Given the description of an element on the screen output the (x, y) to click on. 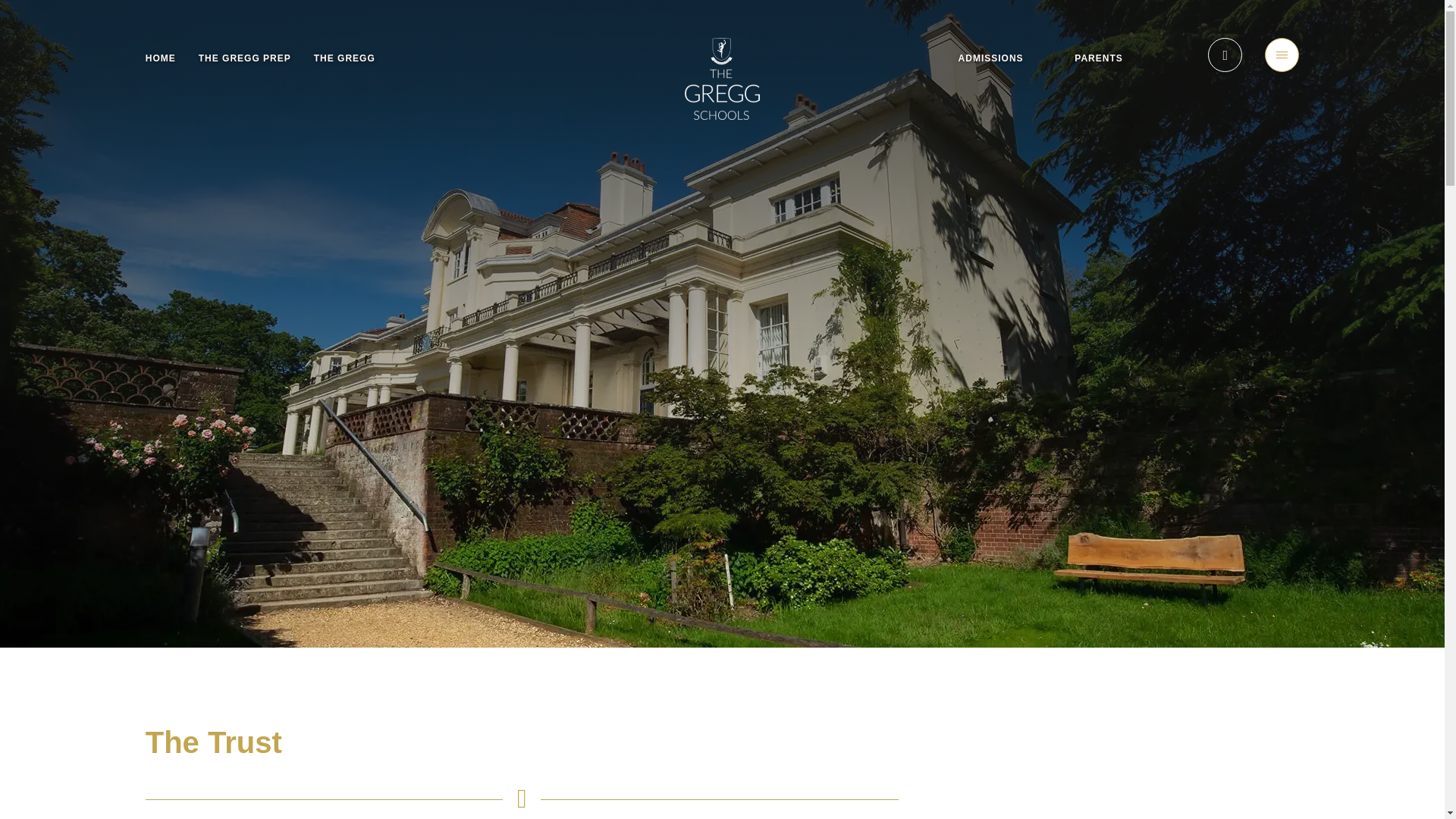
PARENTS (1098, 58)
ADMISSIONS (990, 58)
HOME (160, 58)
THE GREGG (344, 58)
Menu (1281, 54)
THE GREGG PREP (244, 58)
